Given the description of an element on the screen output the (x, y) to click on. 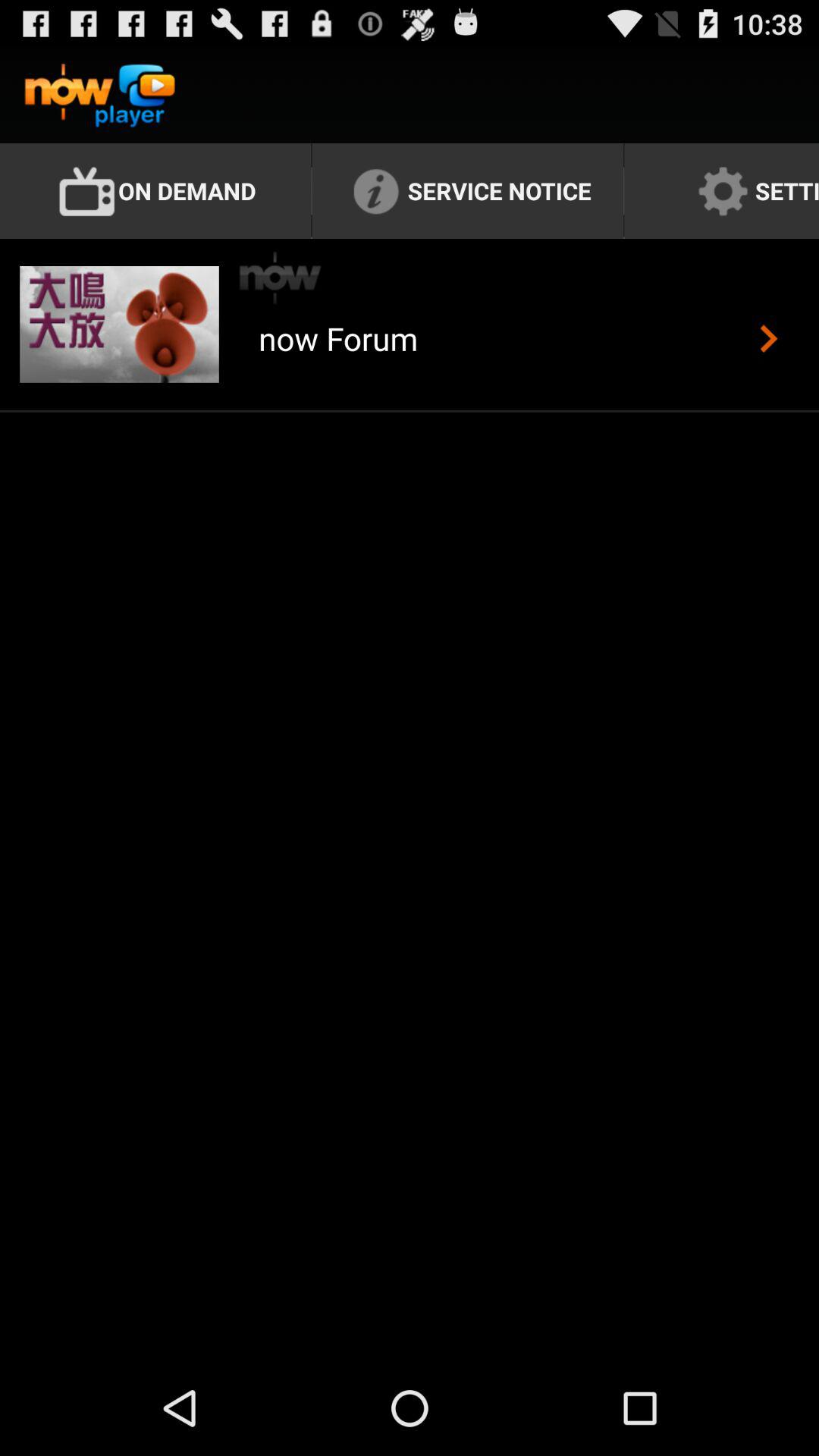
turn on now forum icon (338, 356)
